Given the description of an element on the screen output the (x, y) to click on. 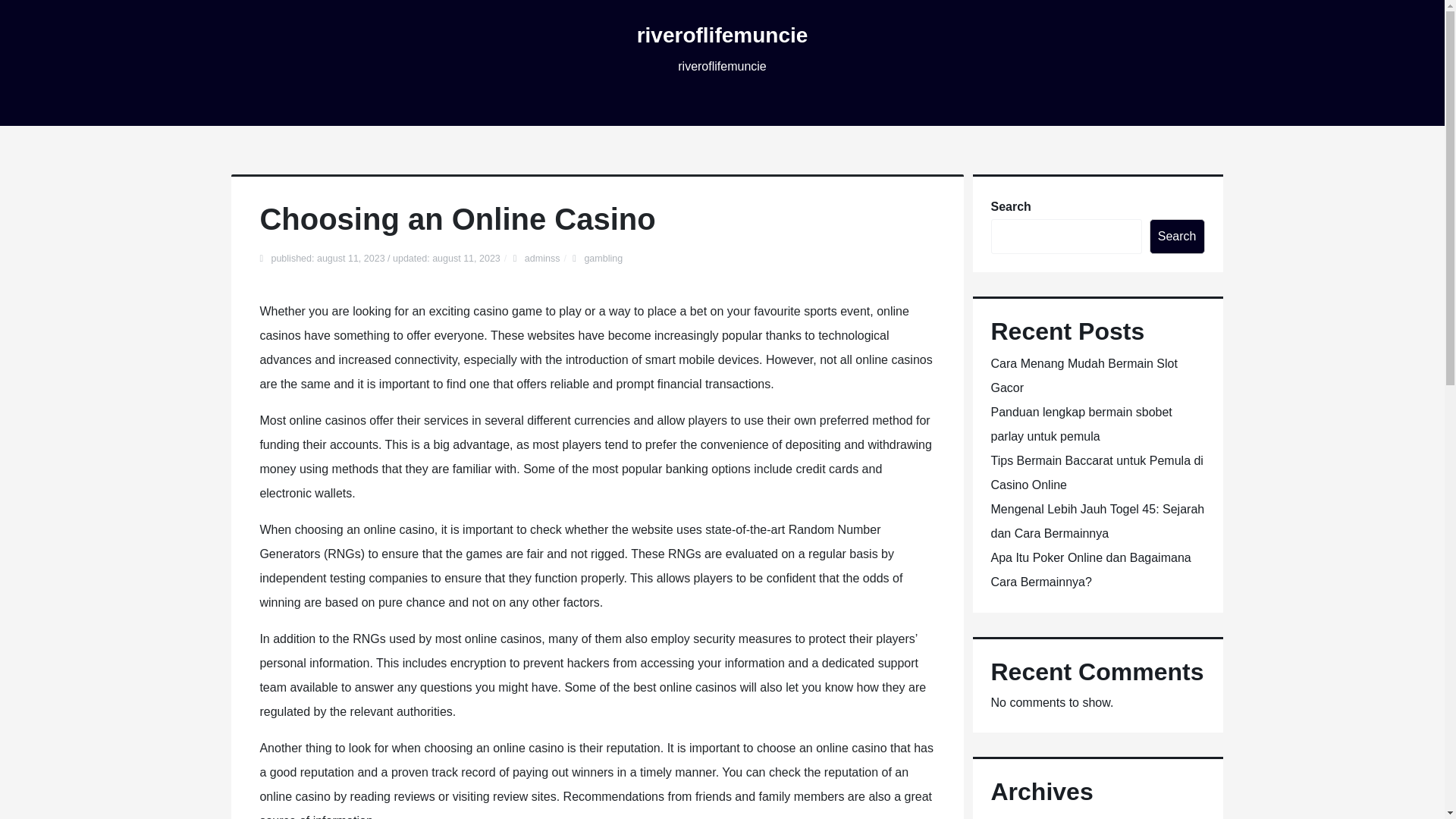
Cara Menang Mudah Bermain Slot Gacor (1083, 375)
riveroflifemuncie (722, 34)
Panduan lengkap bermain sbobet parlay untuk pemula (1081, 424)
July 2024 (1016, 818)
Search (1177, 236)
gambling (603, 258)
Apa Itu Poker Online dan Bagaimana Cara Bermainnya? (1090, 569)
Mengenal Lebih Jauh Togel 45: Sejarah dan Cara Bermainnya (1097, 520)
Tips Bermain Baccarat untuk Pemula di Casino Online (1096, 472)
adminss (542, 258)
